Given the description of an element on the screen output the (x, y) to click on. 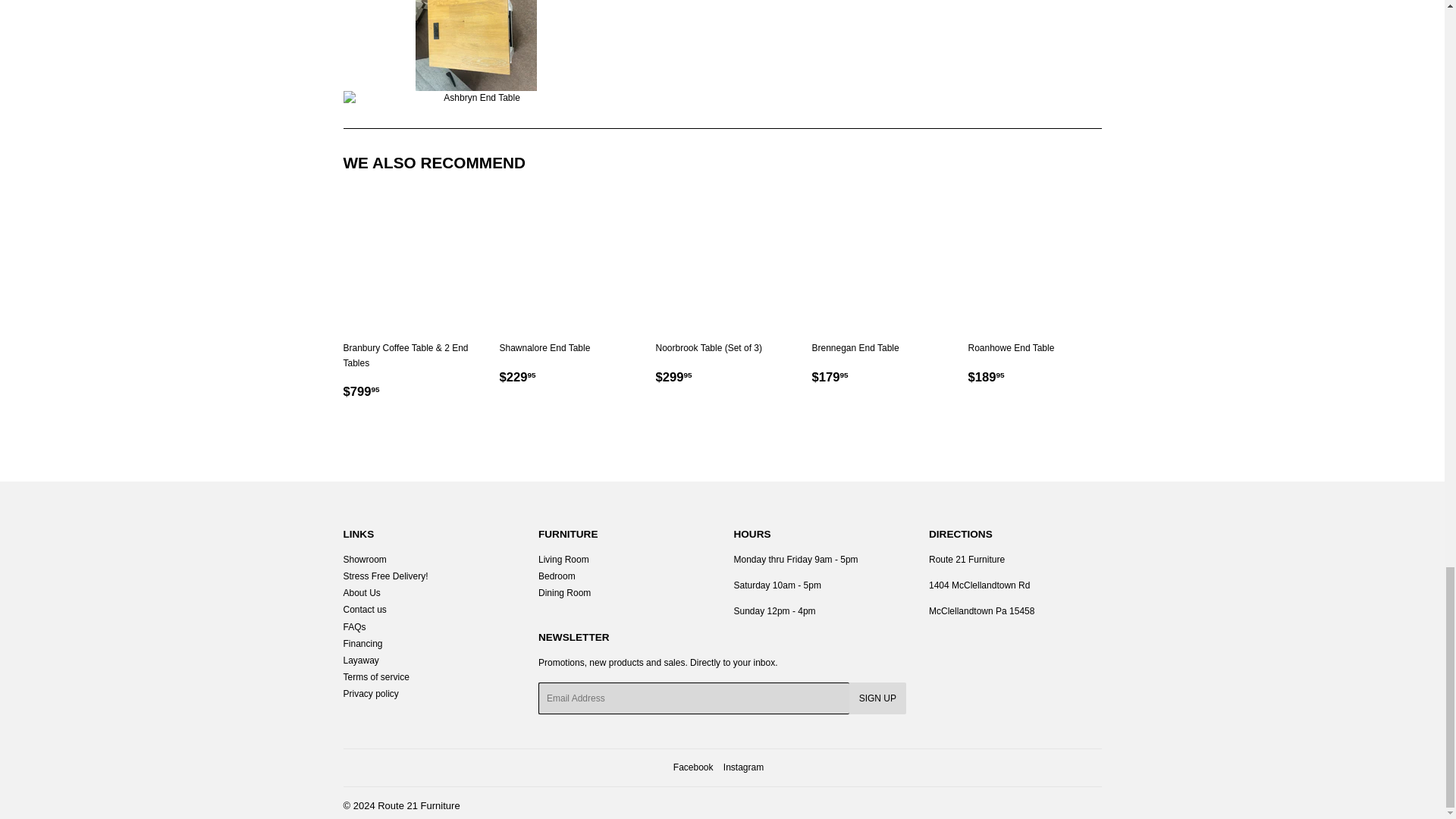
Route 21 Furniture on Instagram (742, 767)
Route 21 Furniture on Facebook (692, 767)
